Given the description of an element on the screen output the (x, y) to click on. 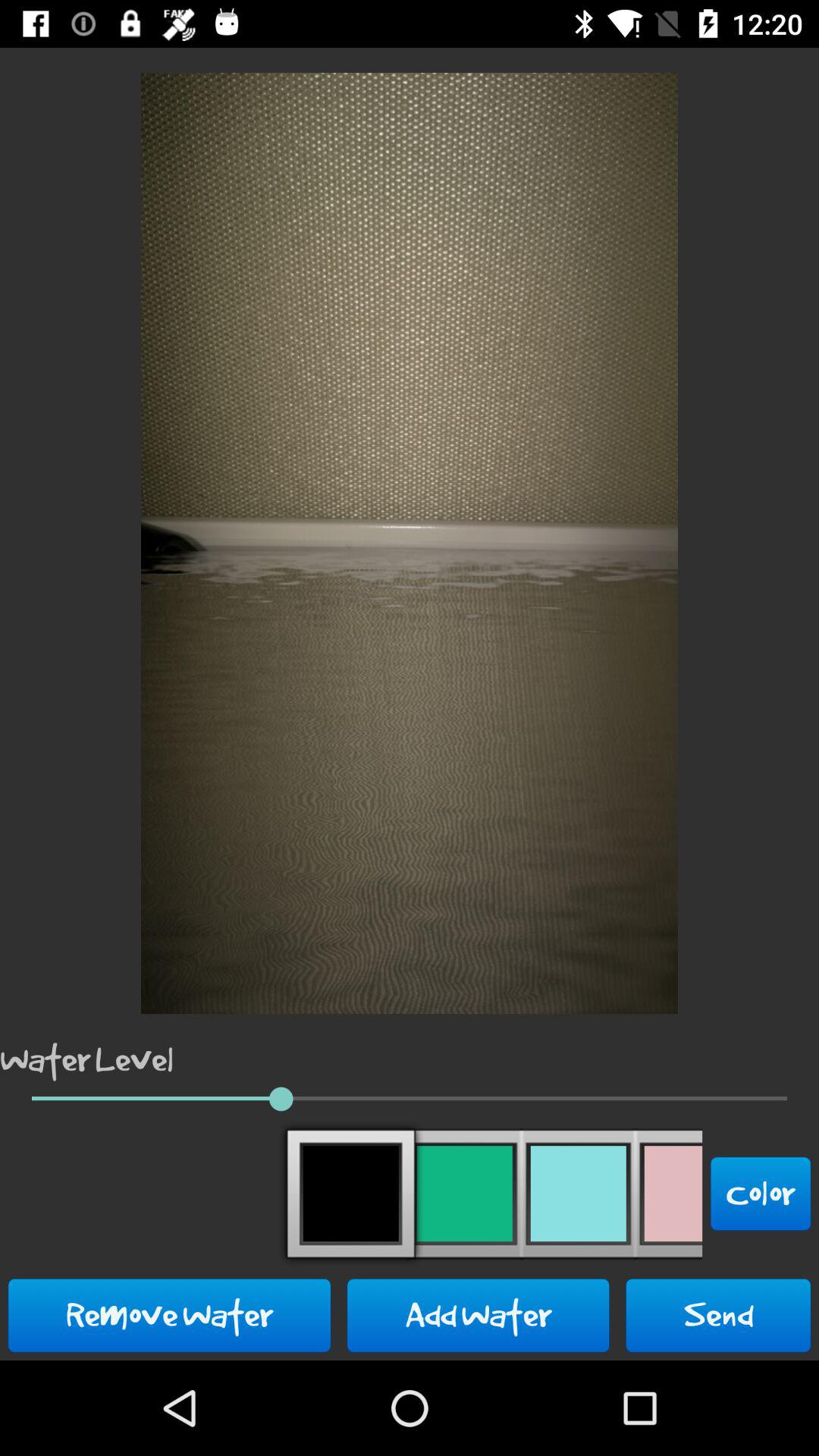
launch button next to the add water (718, 1315)
